Given the description of an element on the screen output the (x, y) to click on. 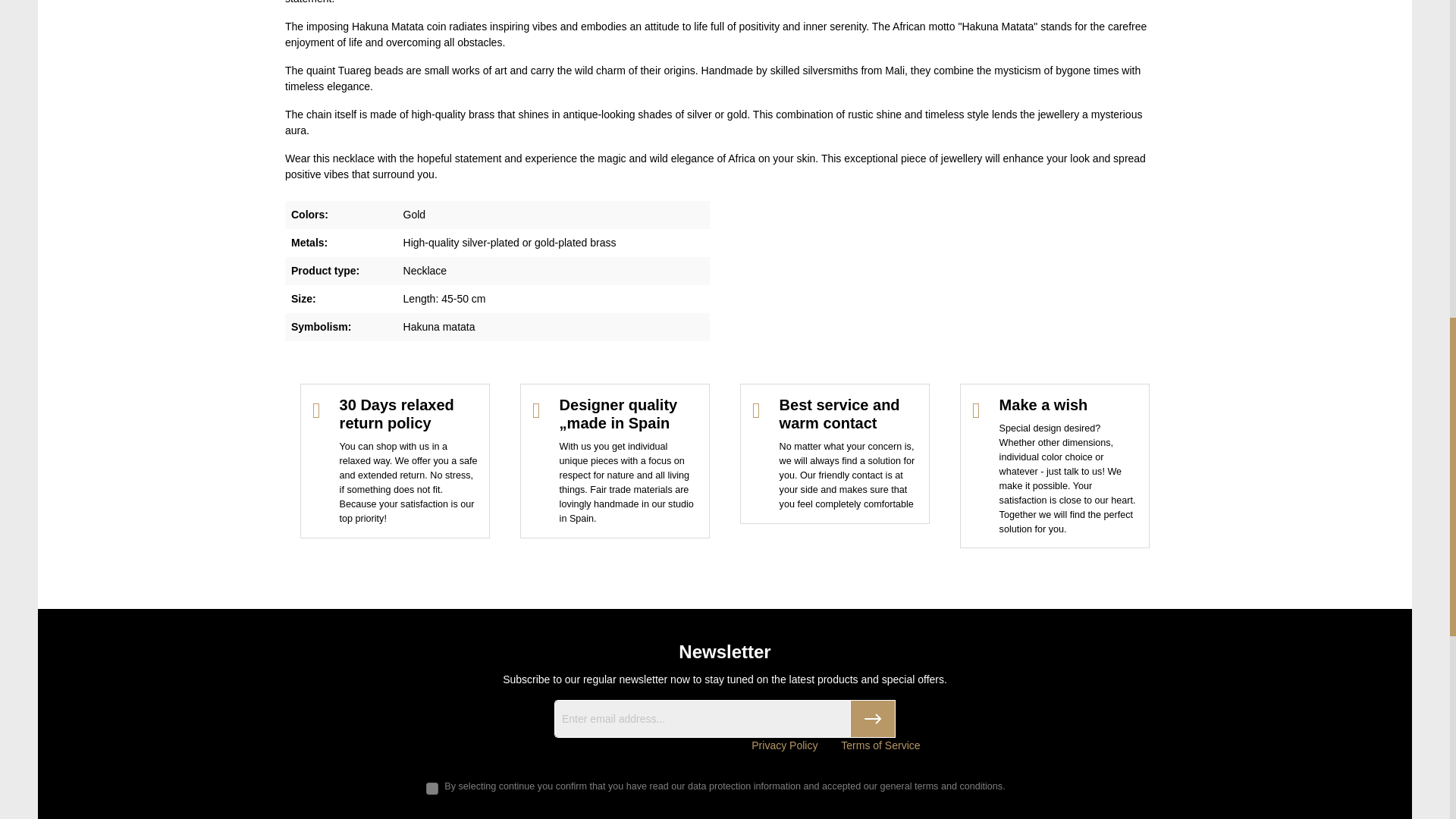
on (432, 788)
